Given the description of an element on the screen output the (x, y) to click on. 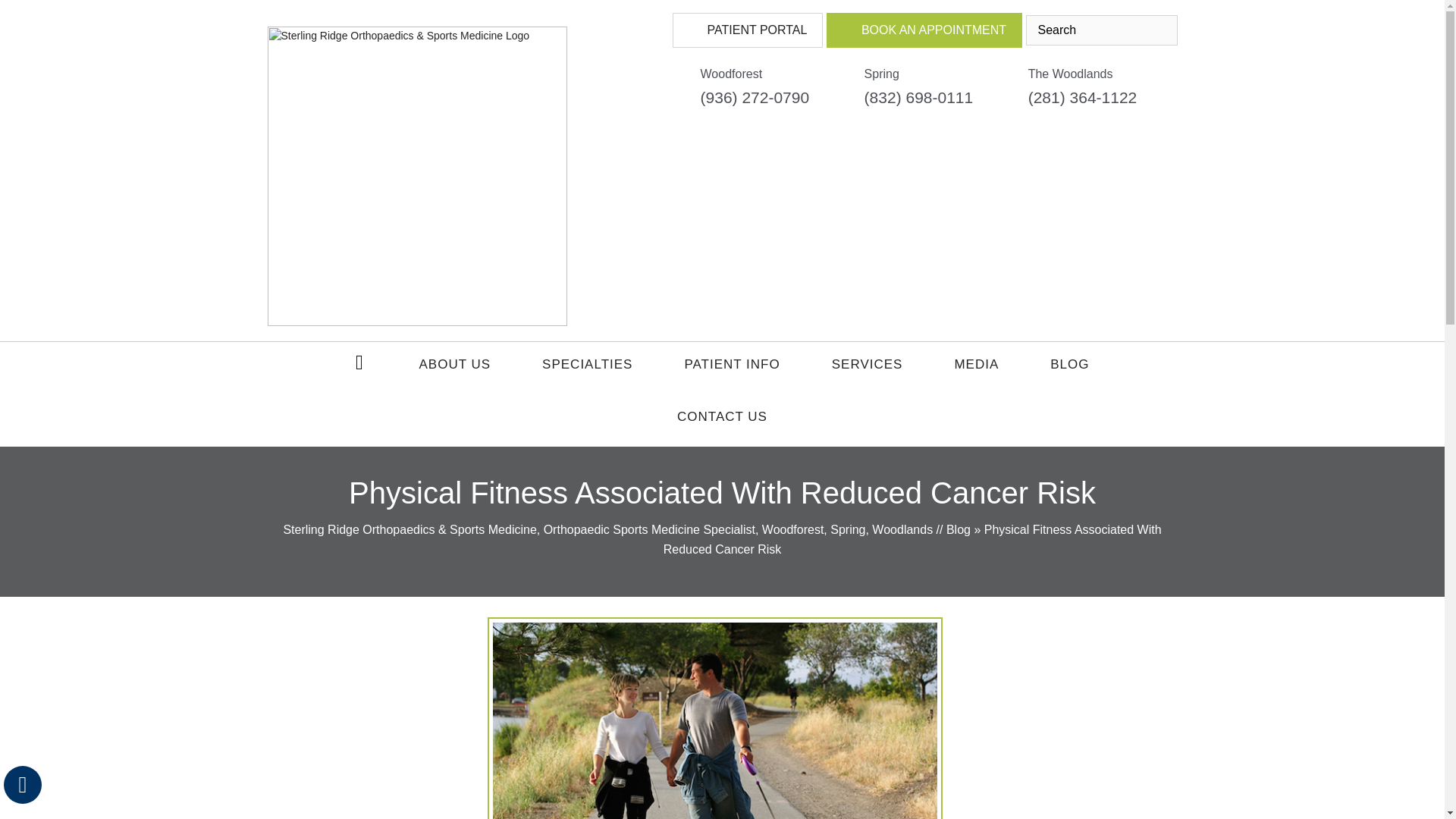
HOME (361, 360)
Hide (22, 784)
PATIENT PORTAL (748, 30)
BOOK AN APPOINTMENT (924, 30)
SPECIALTIES (587, 367)
ABOUT US (454, 367)
Accessible Tool Options (23, 784)
PATIENT INFO (731, 367)
